Given the description of an element on the screen output the (x, y) to click on. 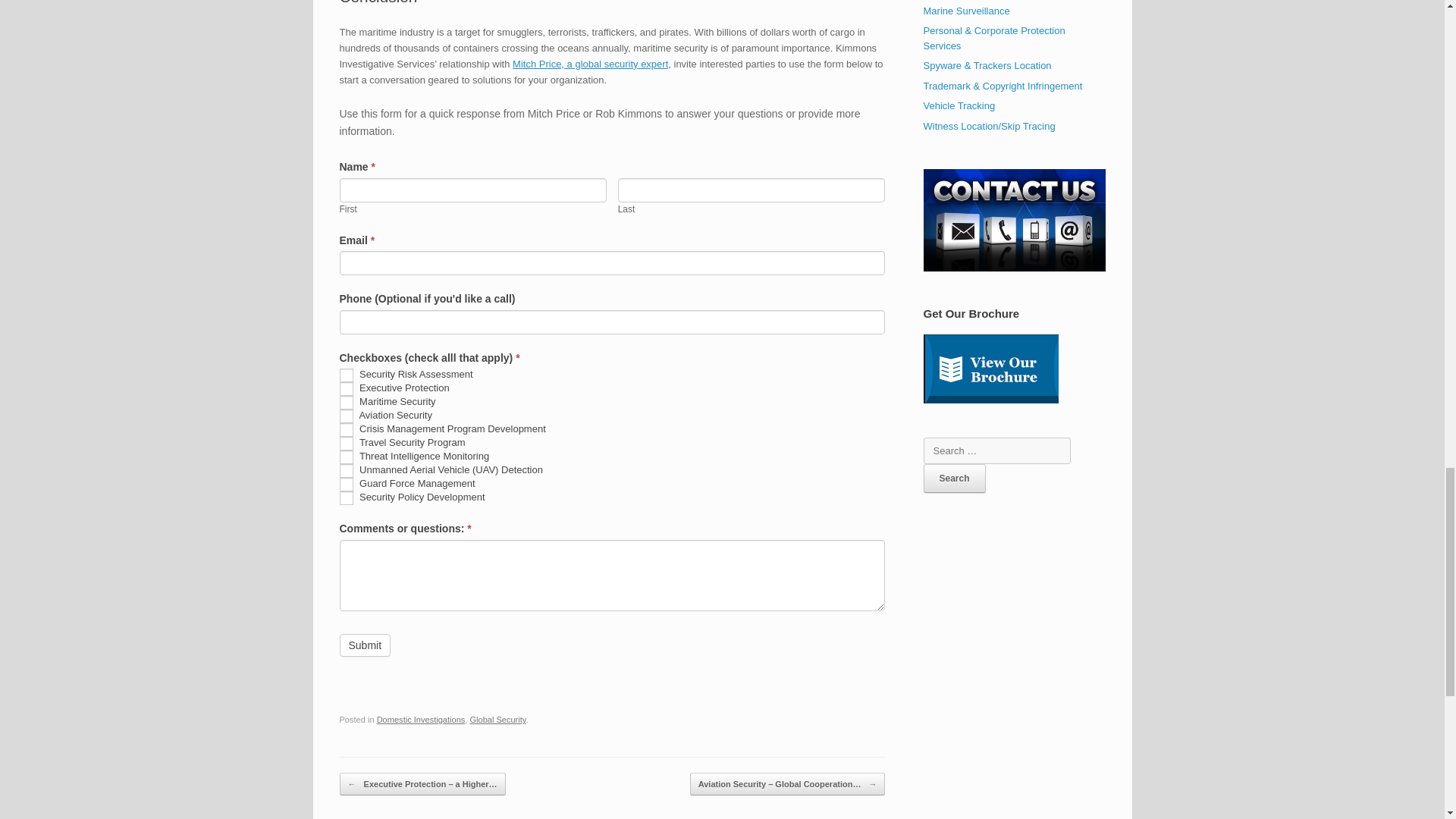
Security Risk Assessment (346, 375)
Maritime Security (346, 402)
Travel Security Program (346, 443)
Guard Force Management (346, 484)
Aviation Security (346, 416)
Security Policy Development (346, 498)
Threat Intelligence Monitoring (346, 457)
Search (954, 478)
Executive Protection (346, 388)
Search (954, 478)
Crisis Management Program Development (346, 429)
